Given the description of an element on the screen output the (x, y) to click on. 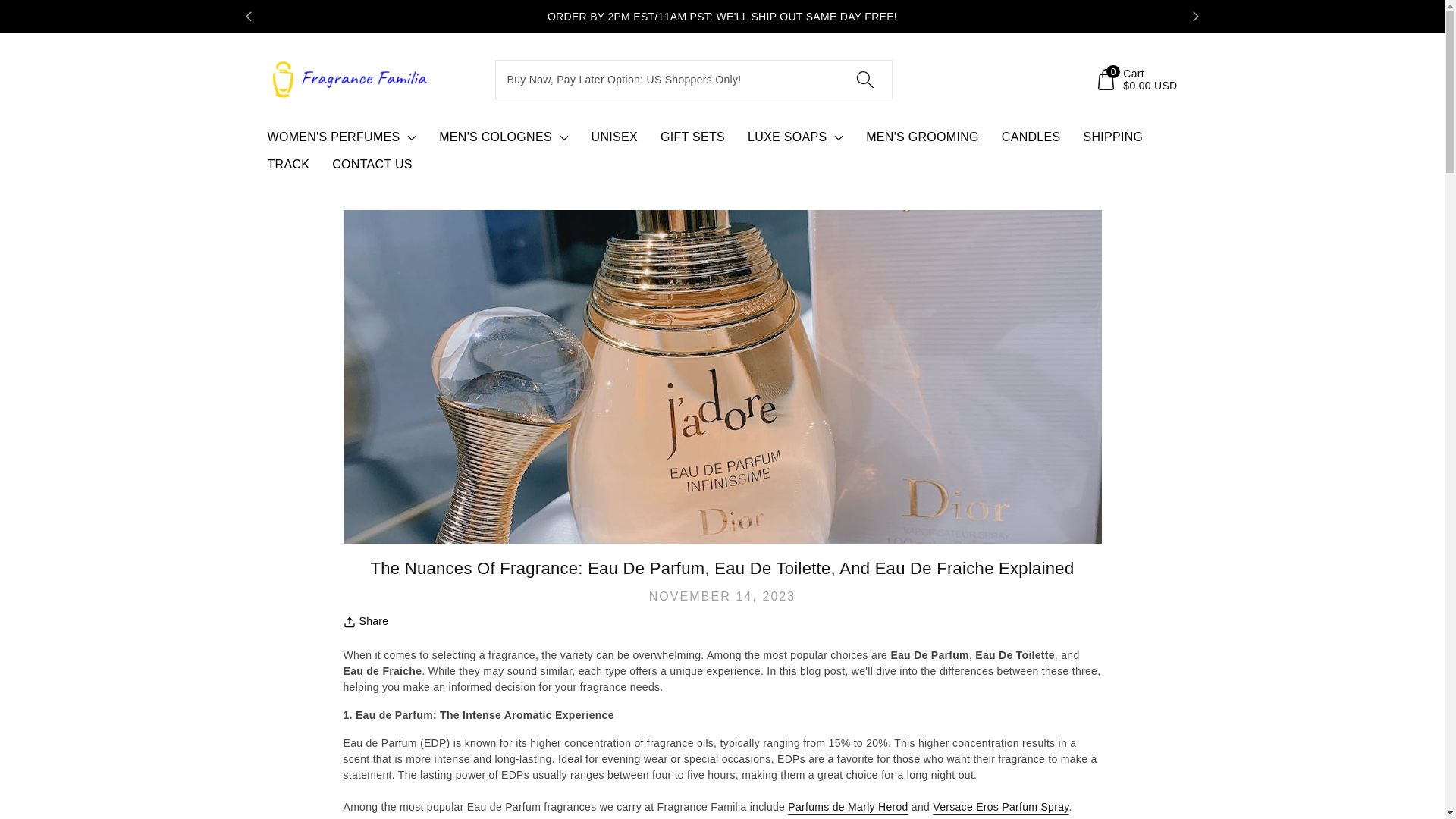
Cart (1135, 79)
Skip To Content (8, 8)
